Given the description of an element on the screen output the (x, y) to click on. 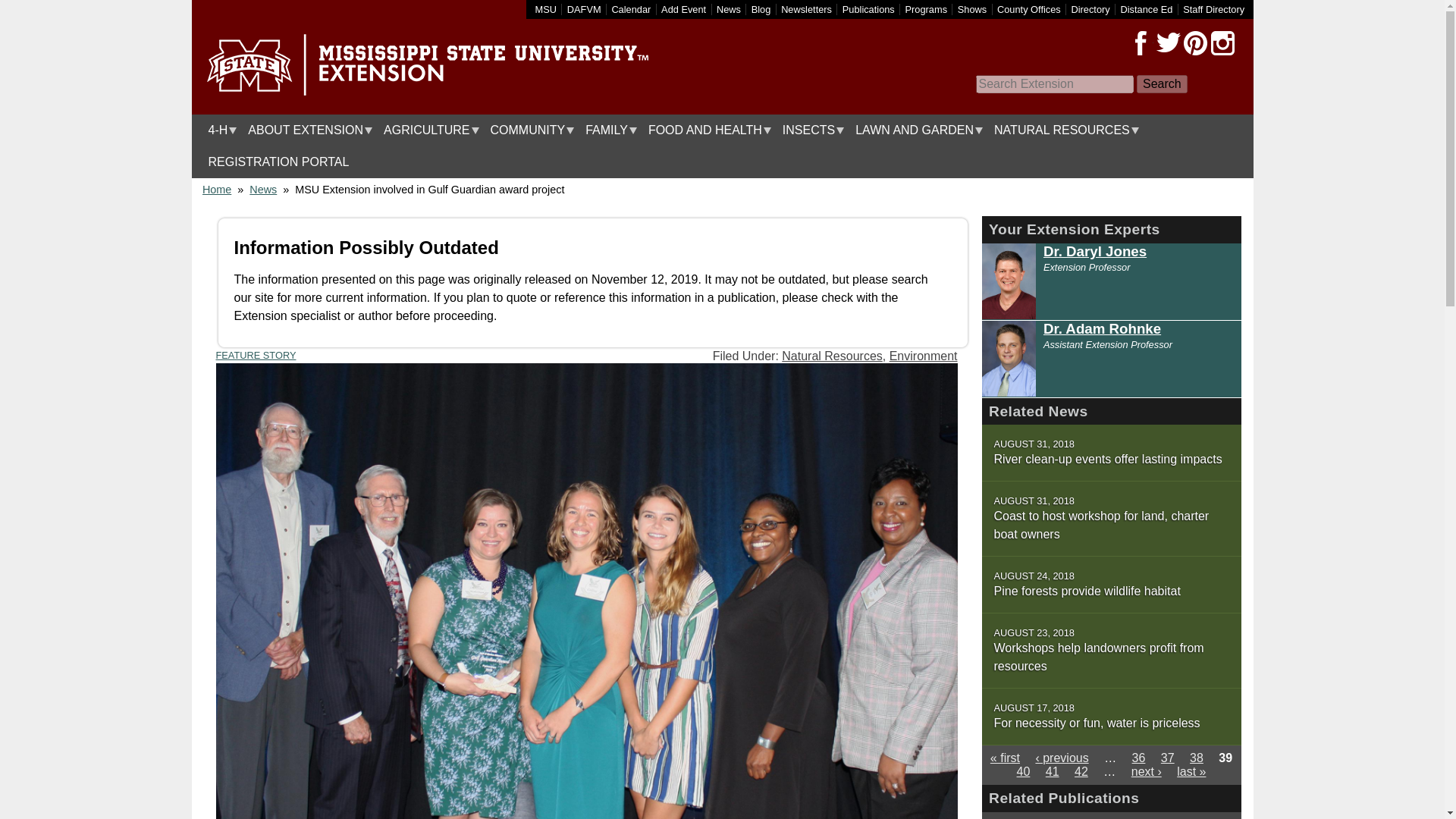
Staff Directory (1213, 9)
County Offices (1029, 9)
Blog (761, 9)
Pinterest (1194, 43)
Directory of employees of the MSU Extension Service (1213, 9)
Link to Mississippi State University (545, 9)
Calendar (630, 9)
News (728, 9)
MSU (545, 9)
Instagram (1221, 43)
Twitter (1167, 43)
